Given the description of an element on the screen output the (x, y) to click on. 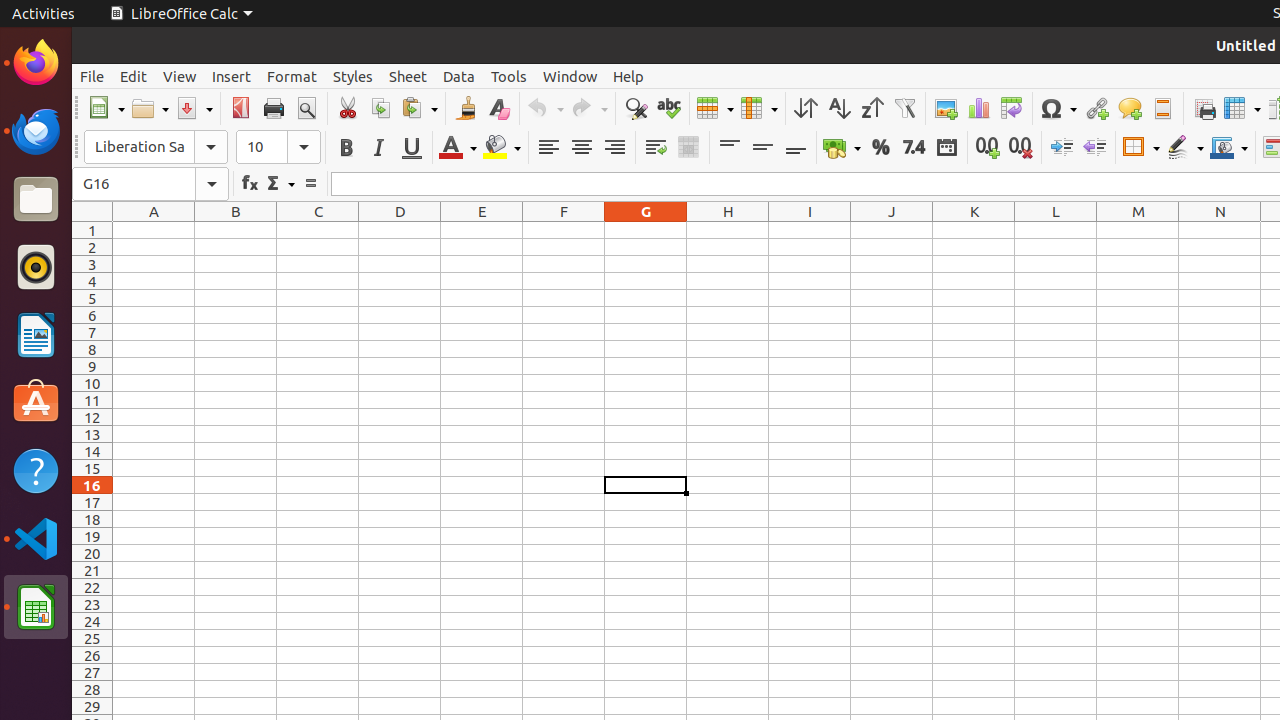
N1 Element type: table-cell (1220, 230)
Currency Element type: push-button (842, 147)
Image Element type: push-button (945, 108)
D1 Element type: table-cell (400, 230)
Wrap Text Element type: push-button (655, 147)
